Given the description of an element on the screen output the (x, y) to click on. 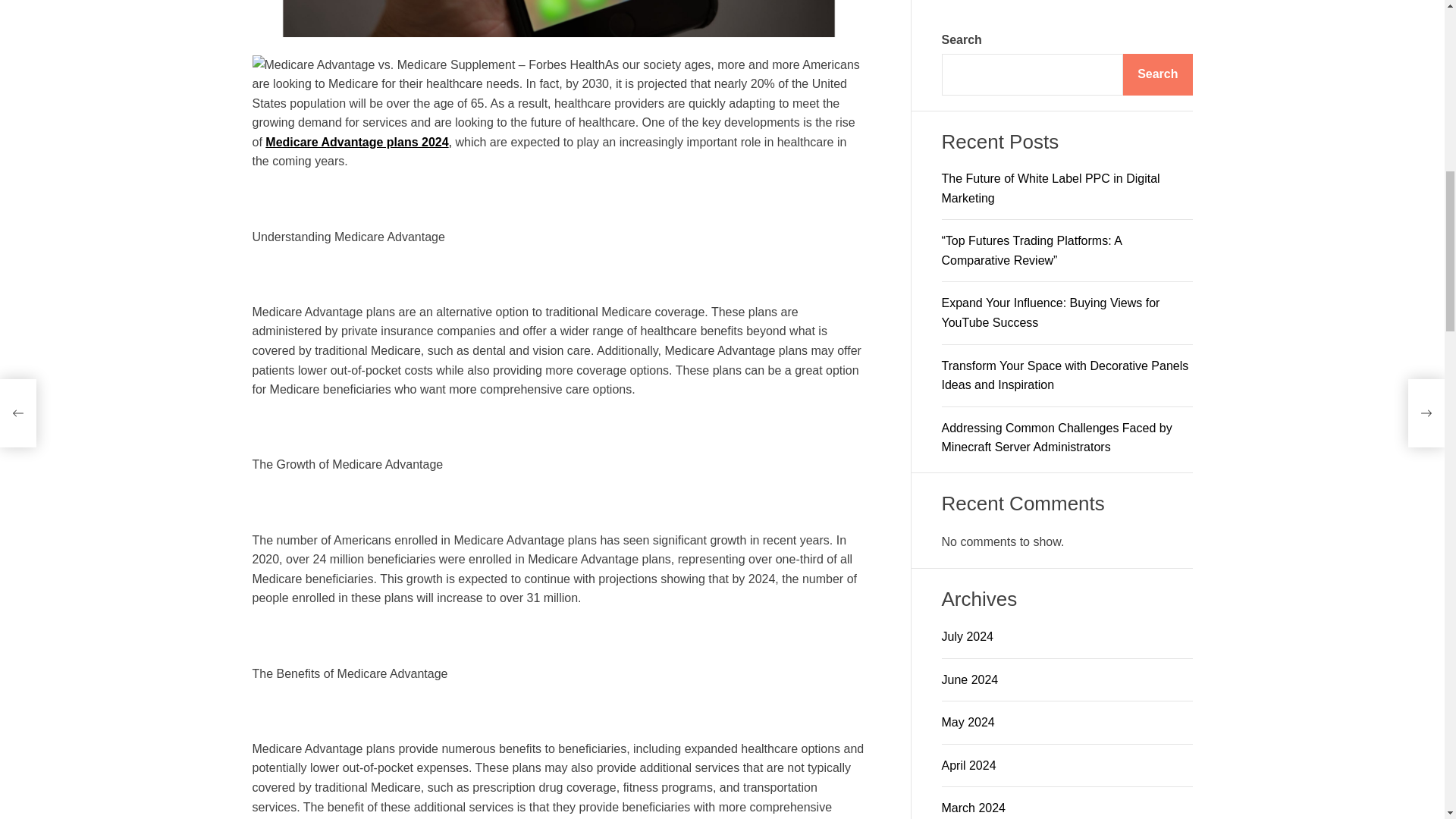
Medicare Advantage plans 2024, (357, 141)
